Given the description of an element on the screen output the (x, y) to click on. 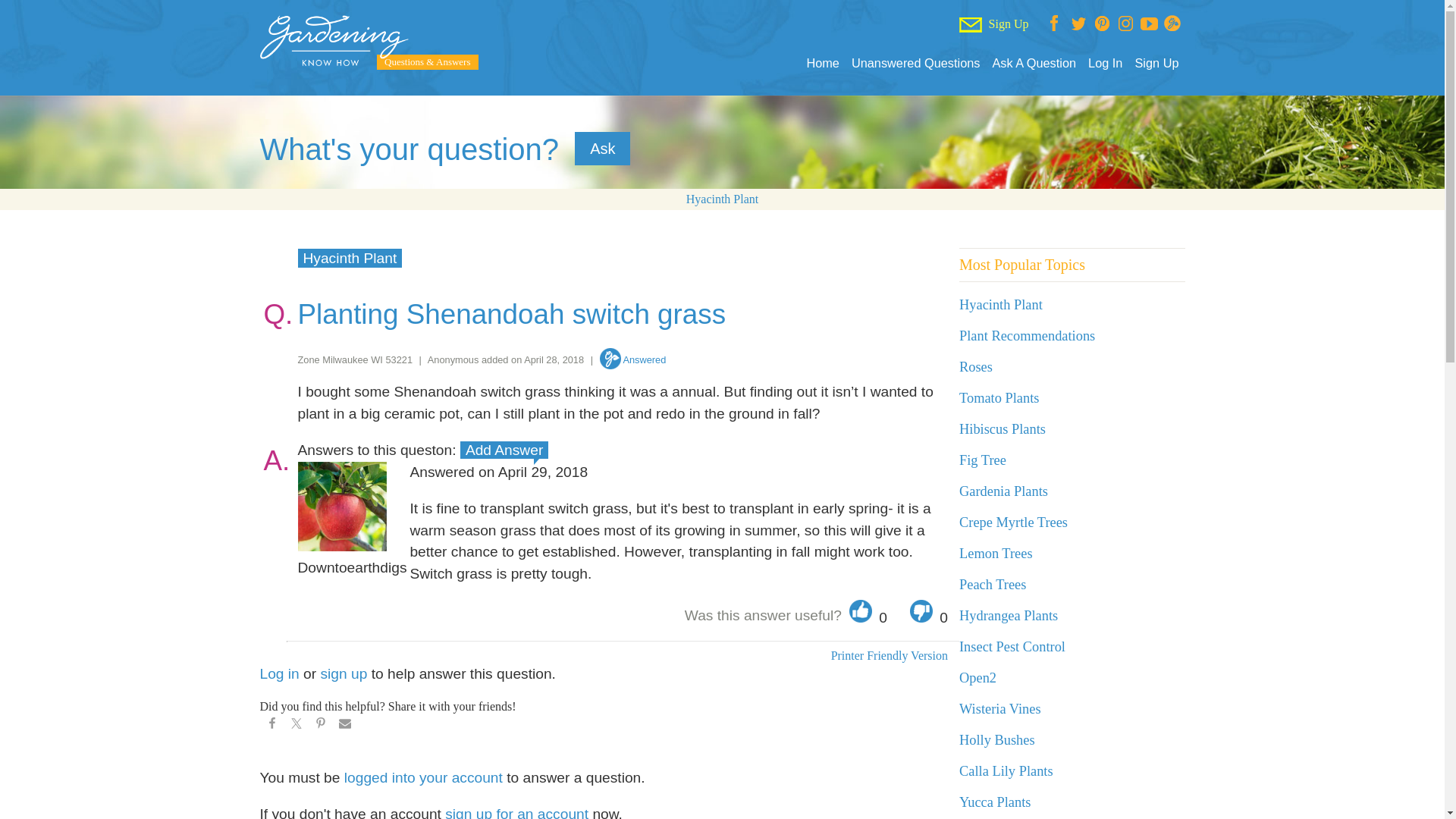
Open2 (977, 677)
Printer Friendly Version (889, 655)
Fig Tree (982, 459)
Hibiscus Plants (1002, 428)
Lemon Trees (995, 553)
Ask A Question (1033, 62)
Hyacinth Plant (721, 198)
Printer Friendly Version (889, 655)
Log In (1104, 62)
Ask (602, 148)
